Given the description of an element on the screen output the (x, y) to click on. 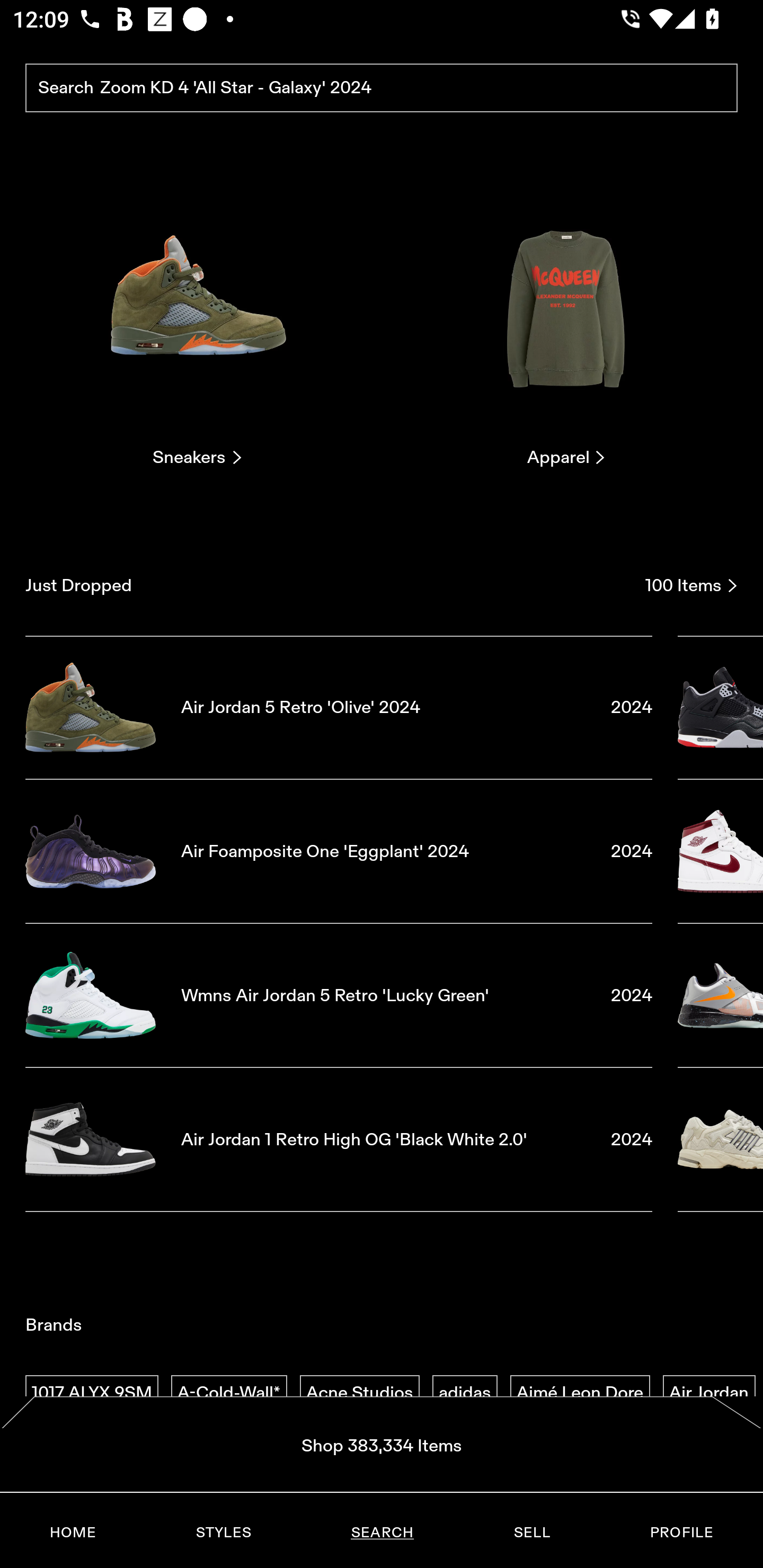
Search (381, 88)
Sneakers (196, 323)
Apparel (565, 323)
Just Dropped (328, 585)
100 Items (691, 585)
Air Jordan 5 Retro 'Olive' 2024 2024 (338, 707)
Air Foamposite One 'Eggplant' 2024 2024 (338, 851)
Wmns Air Jordan 5 Retro 'Lucky Green' 2024 (338, 995)
Air Jordan 1 Retro High OG 'Black White 2.0' 2024 (338, 1139)
1017 ALYX 9SM (91, 1393)
A-Cold-Wall* (228, 1393)
Acne Studios (359, 1393)
adidas (464, 1393)
Aimé Leon Dore (580, 1393)
Air Jordan (709, 1393)
HOME (72, 1532)
STYLES (222, 1532)
SEARCH (381, 1532)
SELL (531, 1532)
PROFILE (681, 1532)
